Given the description of an element on the screen output the (x, y) to click on. 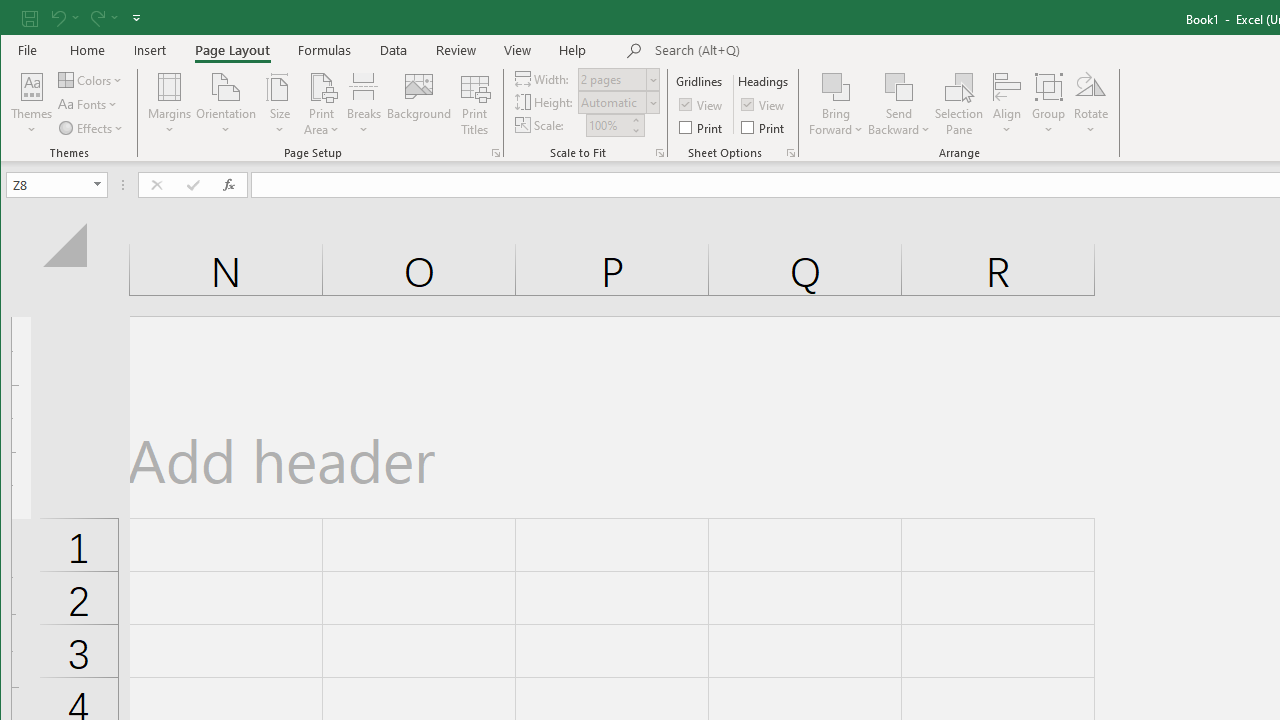
Width (619, 78)
Print (764, 126)
Orientation (226, 104)
Size (279, 104)
Margins (169, 104)
Sheet Options (790, 152)
Themes (31, 104)
Bring Forward (836, 86)
